Given the description of an element on the screen output the (x, y) to click on. 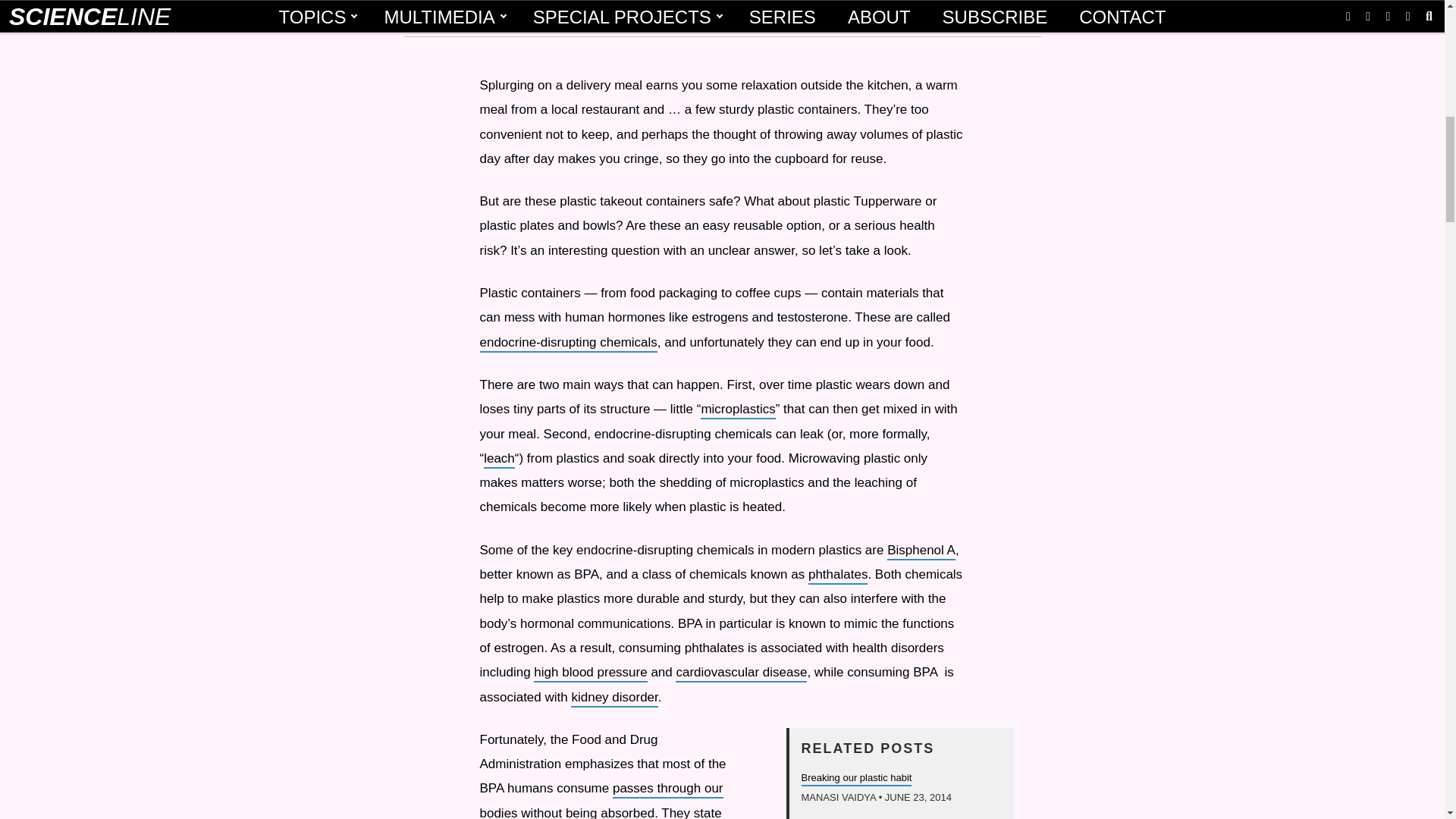
Brad.K (461, 15)
CC BY 2.0 (514, 15)
Posts by Manasi Vaidya (838, 797)
